Given the description of an element on the screen output the (x, y) to click on. 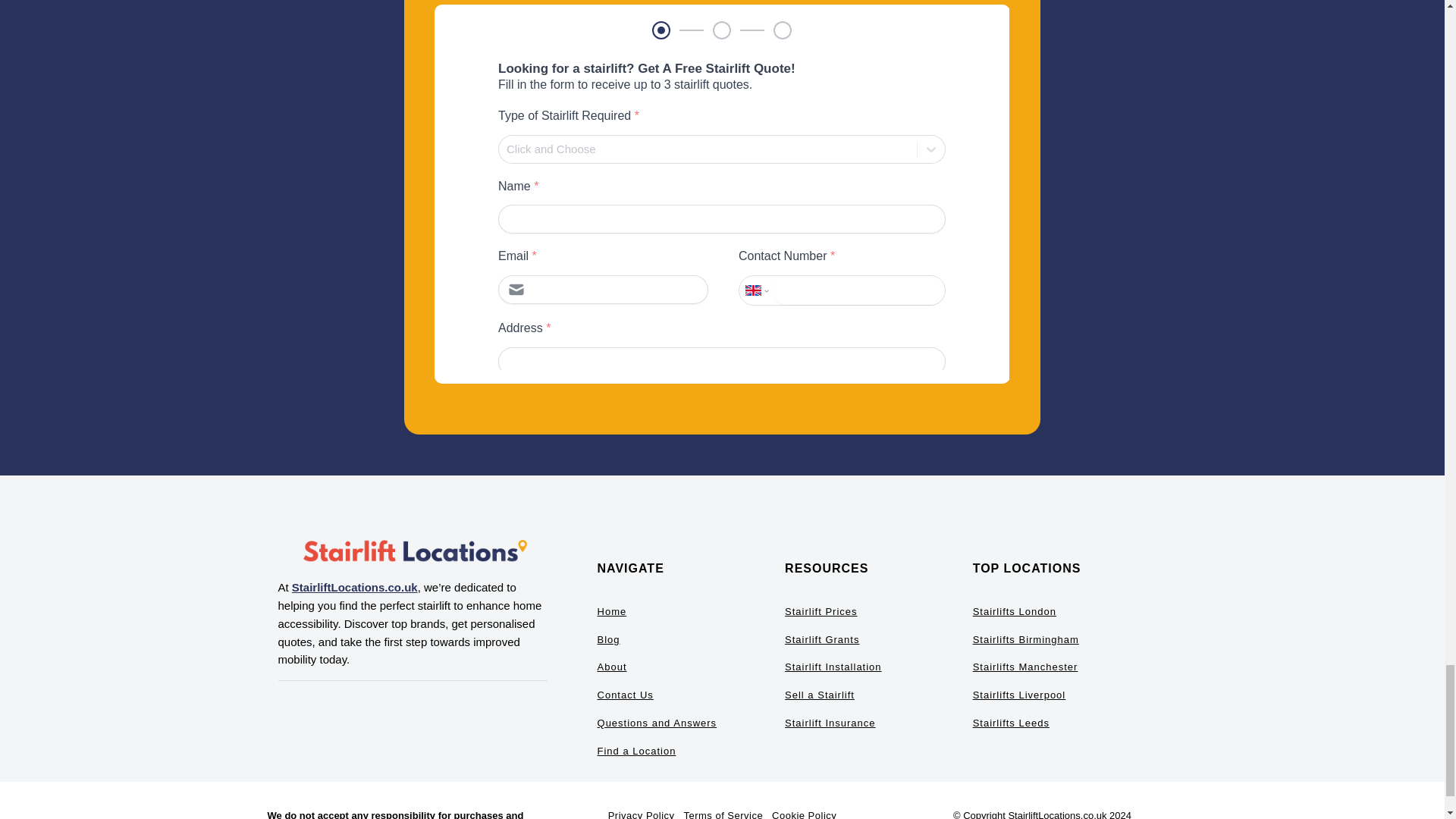
stairlift locations (412, 552)
